Given the description of an element on the screen output the (x, y) to click on. 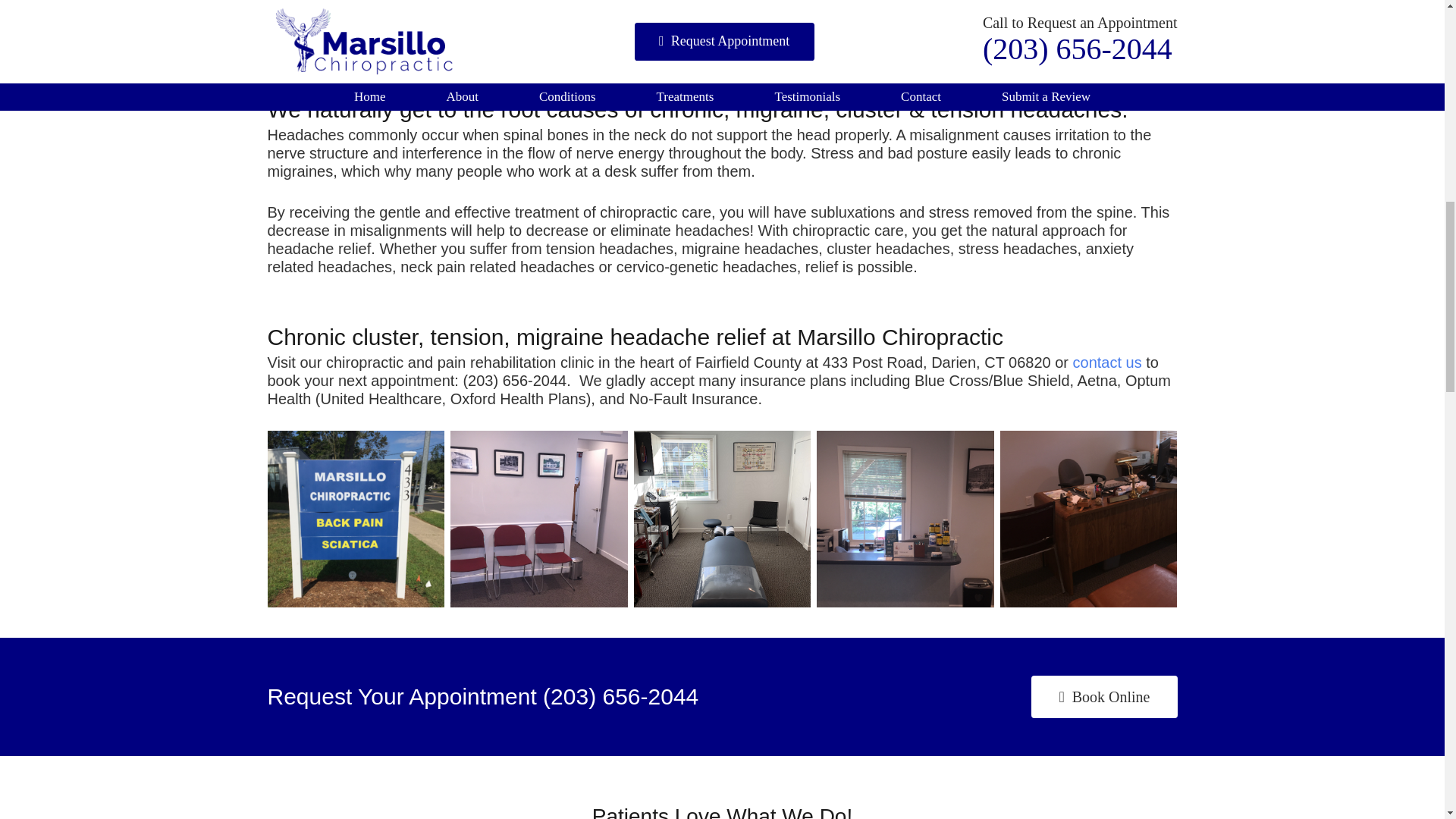
contact us  (1110, 362)
Book Online (1103, 696)
Back to top (1413, 26)
